Given the description of an element on the screen output the (x, y) to click on. 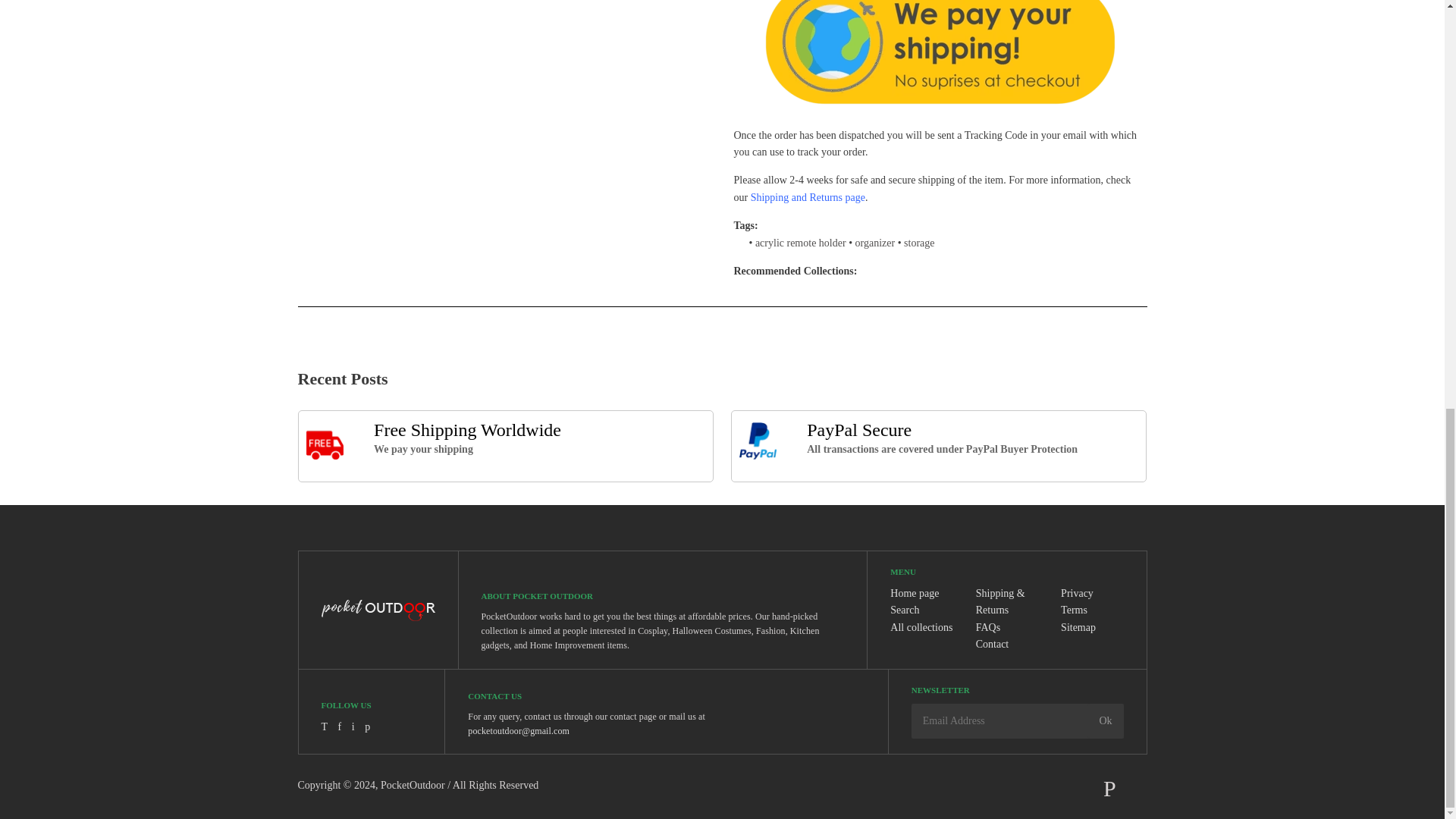
Ok (1104, 720)
